Given the description of an element on the screen output the (x, y) to click on. 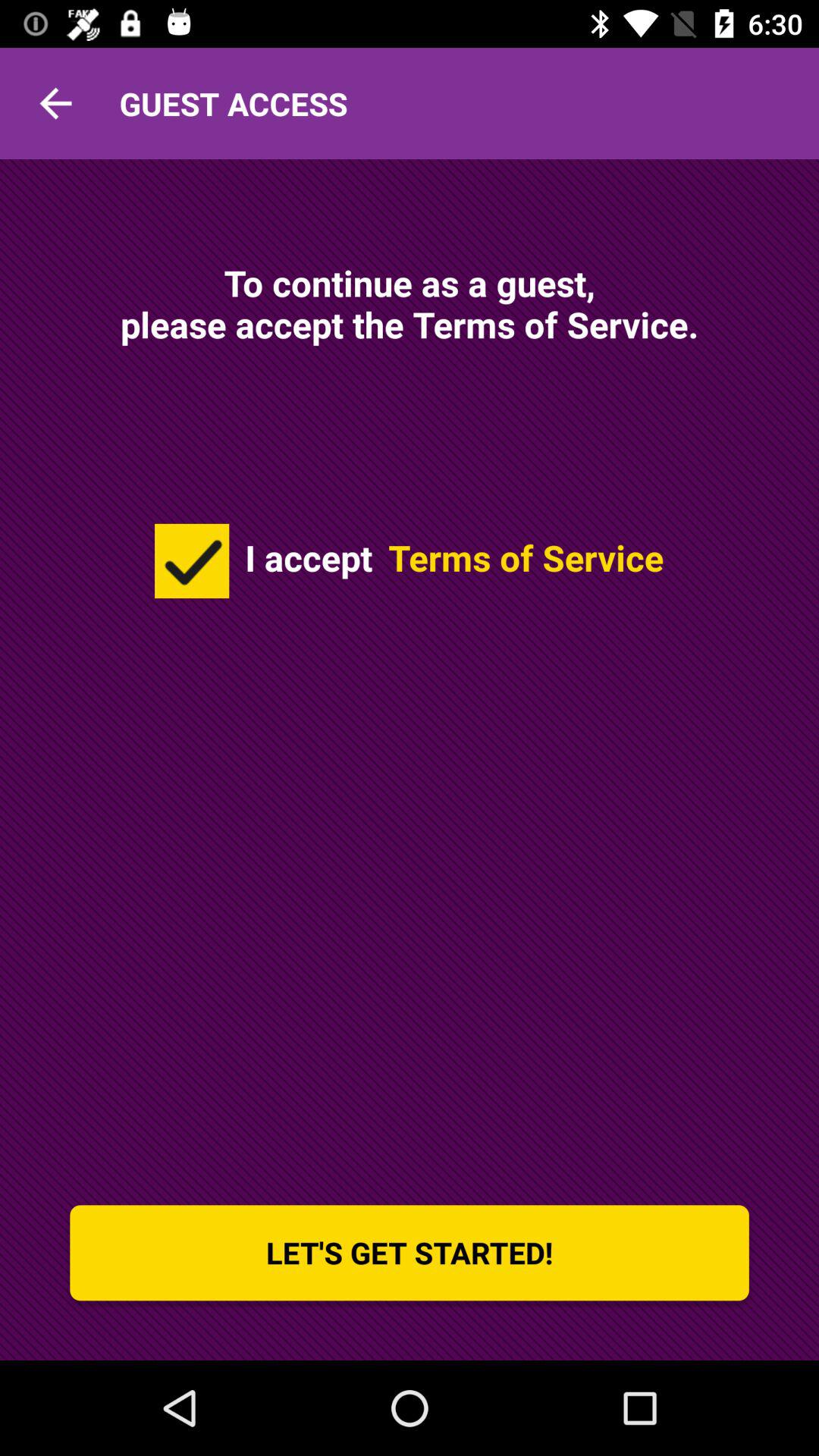
turn off the icon on the left (191, 560)
